Given the description of an element on the screen output the (x, y) to click on. 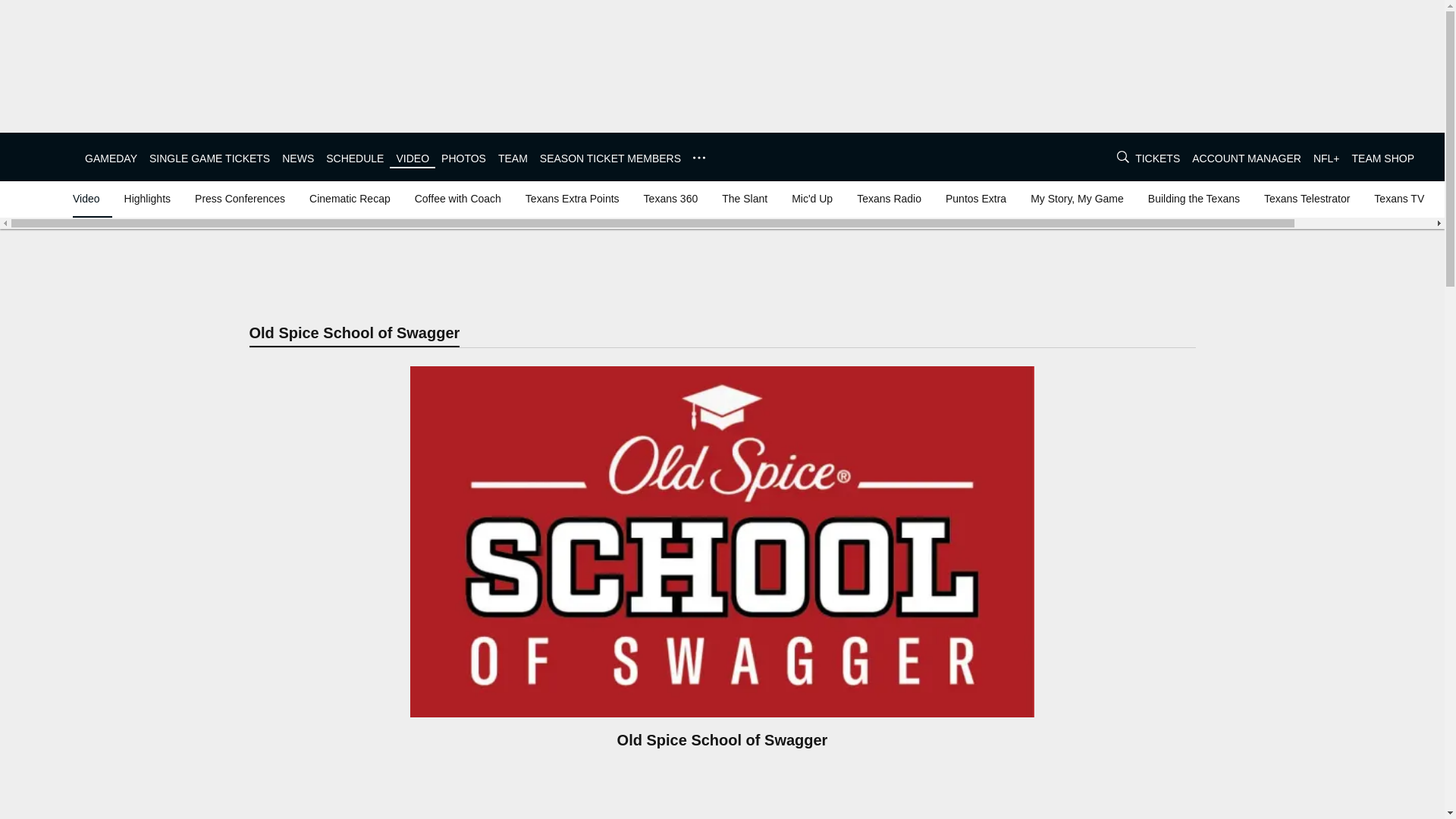
My Story, My Game (1077, 198)
Texans Extra Points (572, 198)
SEASON TICKET MEMBERS (610, 158)
SINGLE GAME TICKETS (209, 158)
GAMEDAY (110, 158)
VIDEO (412, 158)
Cinematic Recap (349, 198)
Link to club's homepage (42, 156)
Texans Radio (888, 198)
NEWS (298, 158)
